Given the description of an element on the screen output the (x, y) to click on. 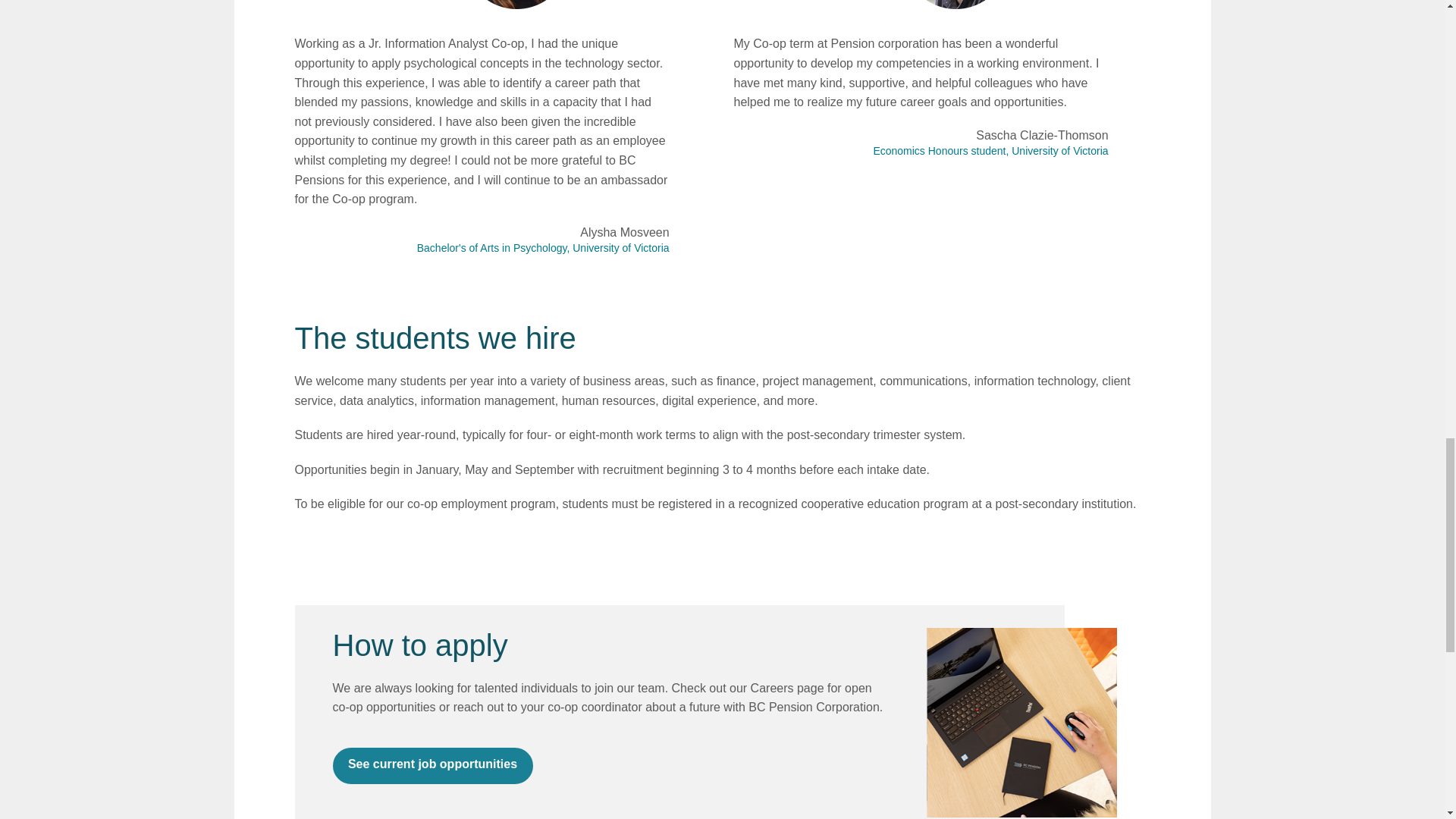
See current job opportunities (431, 765)
